Given the description of an element on the screen output the (x, y) to click on. 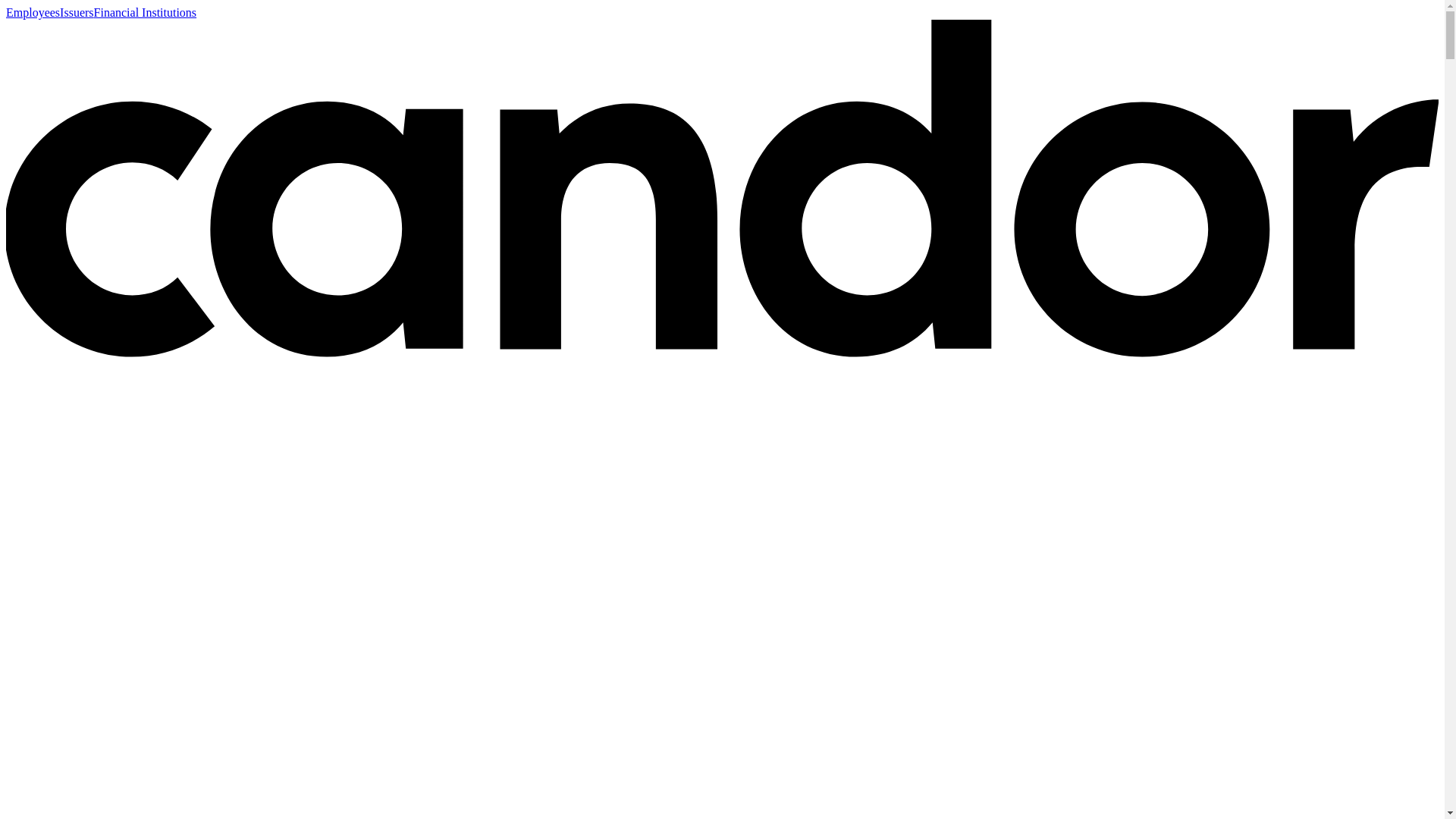
Financial Institutions (145, 11)
Employees (32, 11)
Issuers (76, 11)
